Given the description of an element on the screen output the (x, y) to click on. 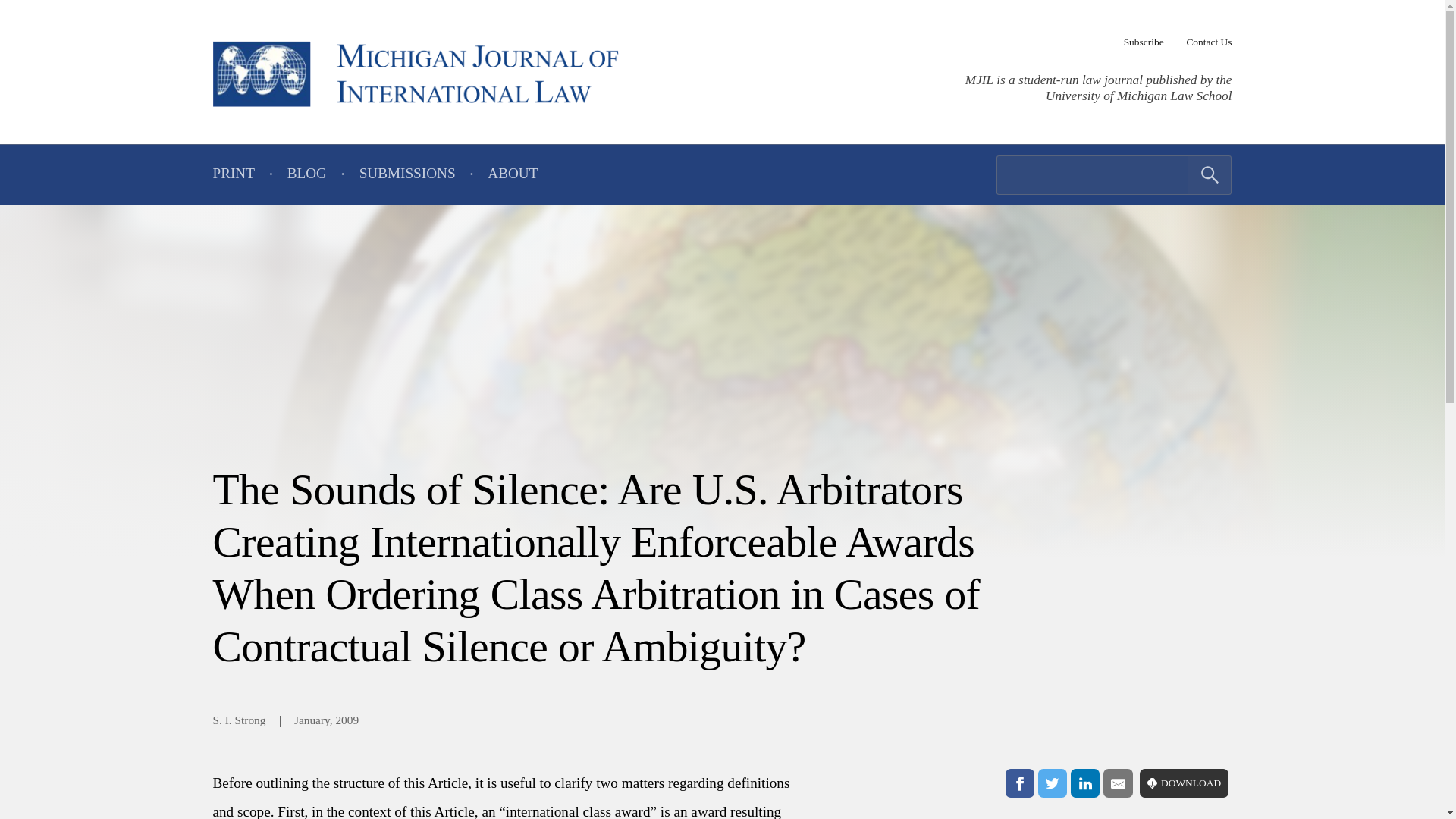
Search (1209, 174)
E-Mail (1117, 783)
ABOUT (512, 175)
PRINT (232, 175)
Subscribe (1143, 42)
Twitter (1052, 783)
Contact Us (1208, 42)
LinkedIn (1084, 783)
SUBMISSIONS (407, 175)
Facebook (1019, 783)
